Given the description of an element on the screen output the (x, y) to click on. 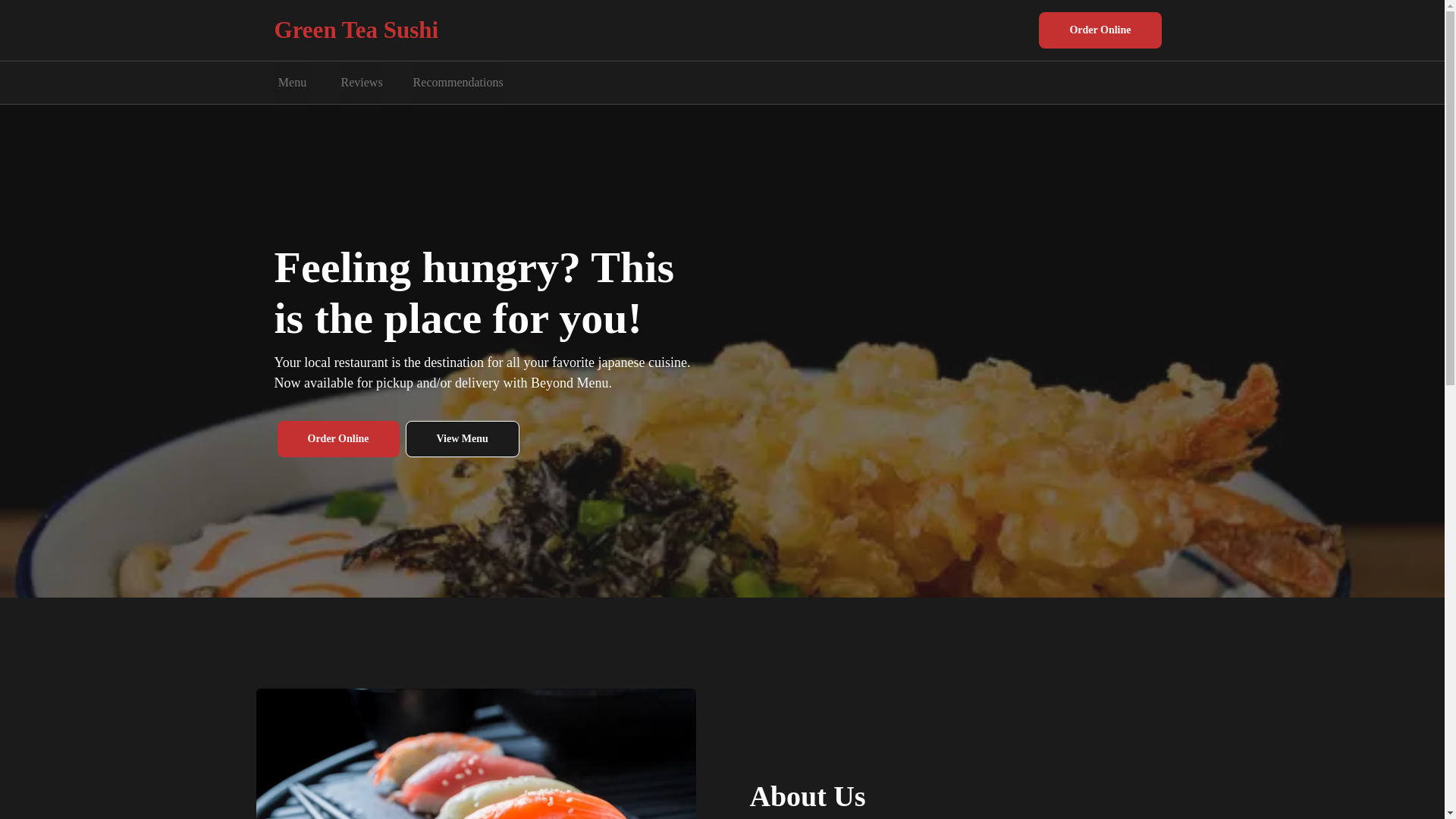
View Menu (462, 438)
Reviews (361, 83)
Order Online (338, 438)
Green Tea Sushi (357, 29)
Recommendations (458, 83)
Recommendations (458, 82)
Order Online (1099, 30)
